Given the description of an element on the screen output the (x, y) to click on. 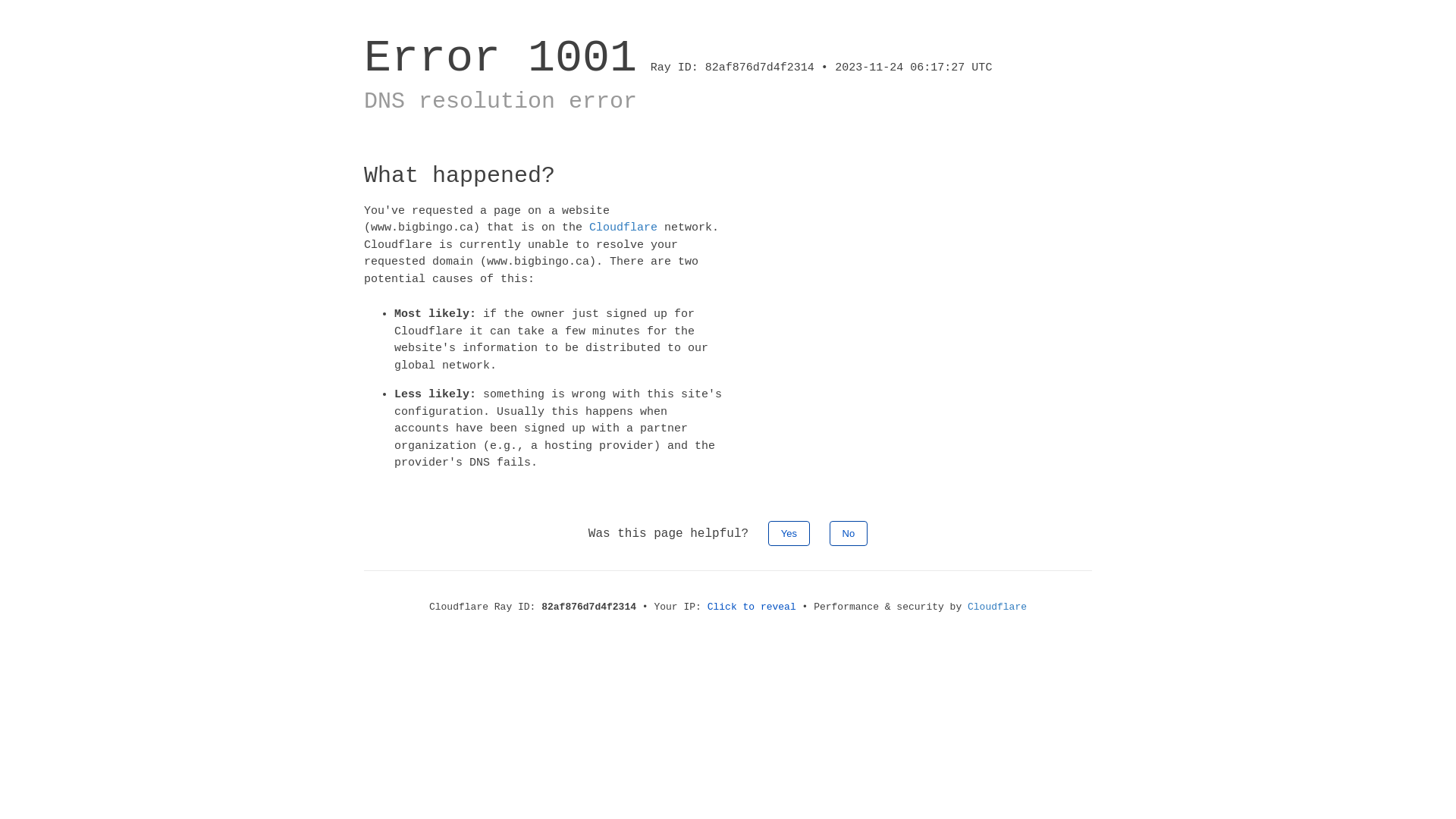
Yes Element type: text (788, 532)
Cloudflare Element type: text (623, 227)
Cloudflare Element type: text (996, 605)
Click to reveal Element type: text (751, 605)
No Element type: text (848, 532)
